Given the description of an element on the screen output the (x, y) to click on. 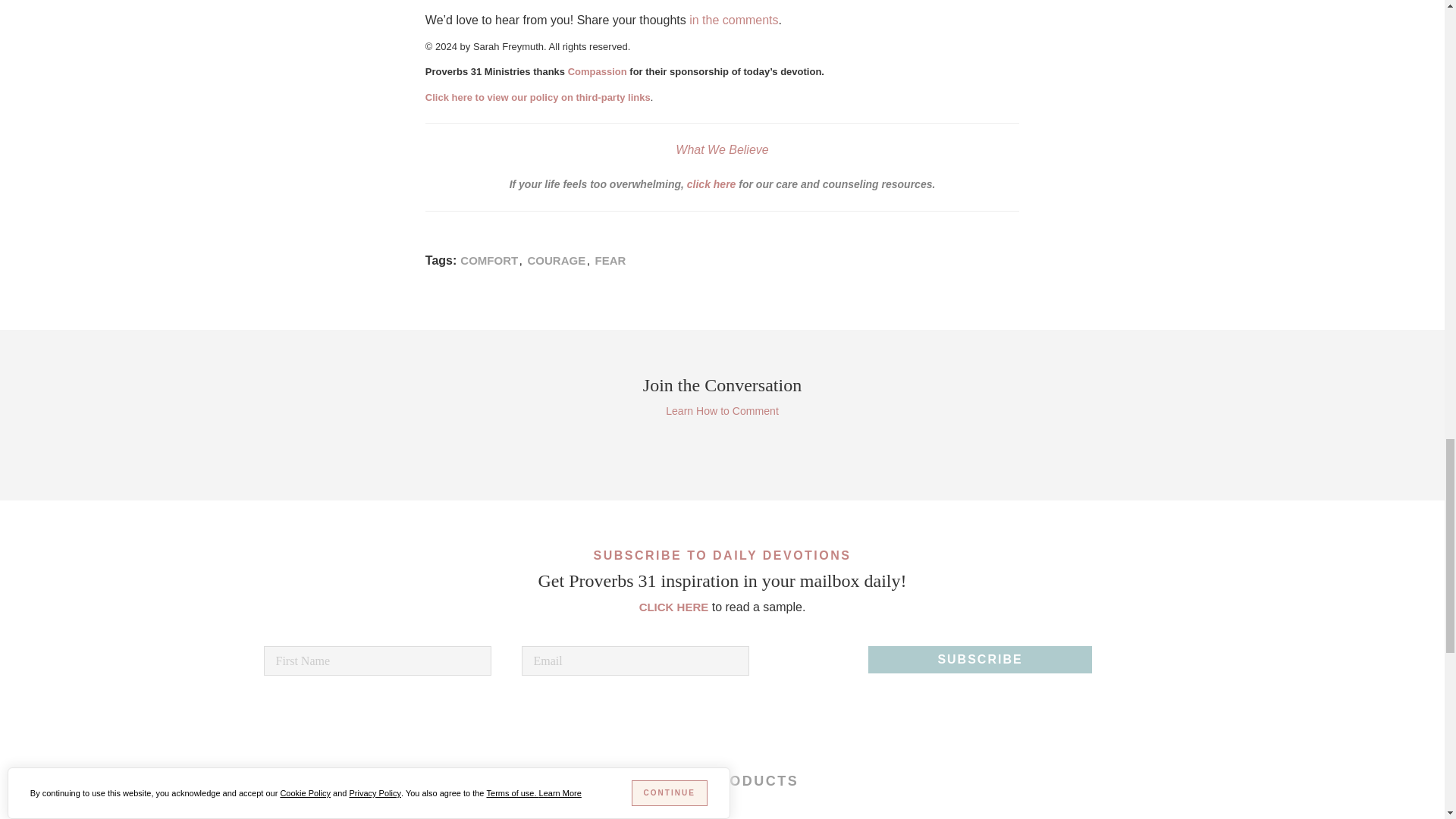
SUBSCRIBE (979, 659)
